Given the description of an element on the screen output the (x, y) to click on. 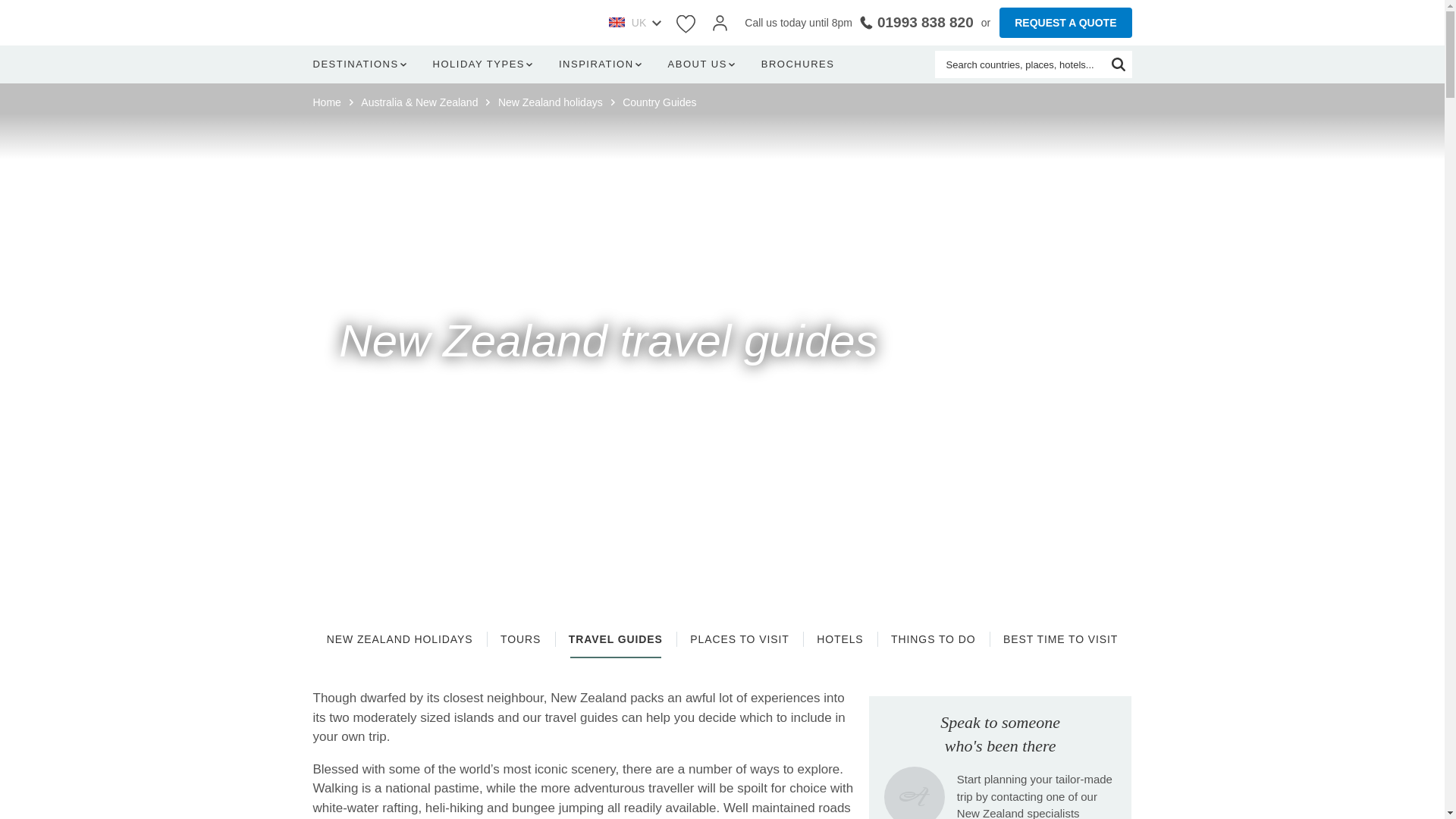
UK (634, 22)
REQUEST A QUOTE (1064, 22)
DESTINATIONS (363, 64)
